Given the description of an element on the screen output the (x, y) to click on. 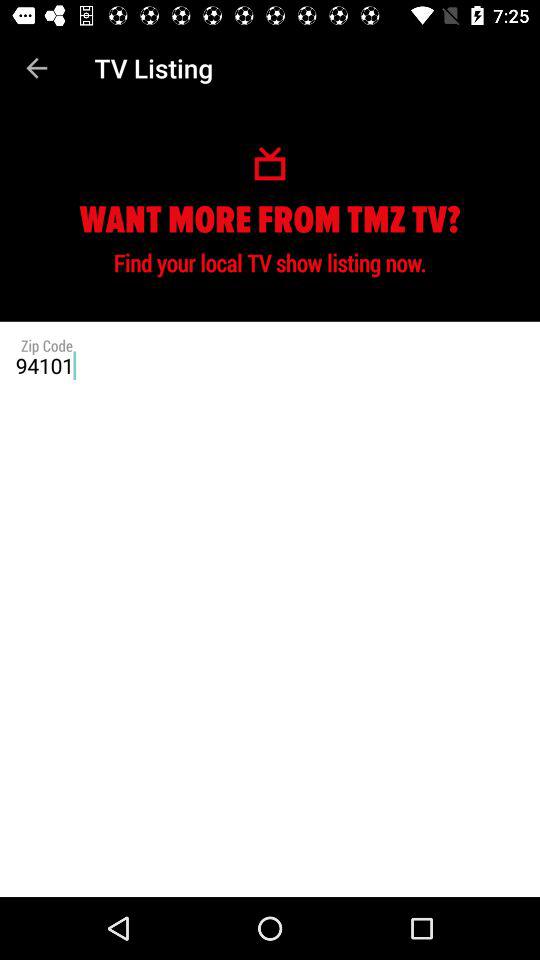
swipe until the 94101 (269, 365)
